Given the description of an element on the screen output the (x, y) to click on. 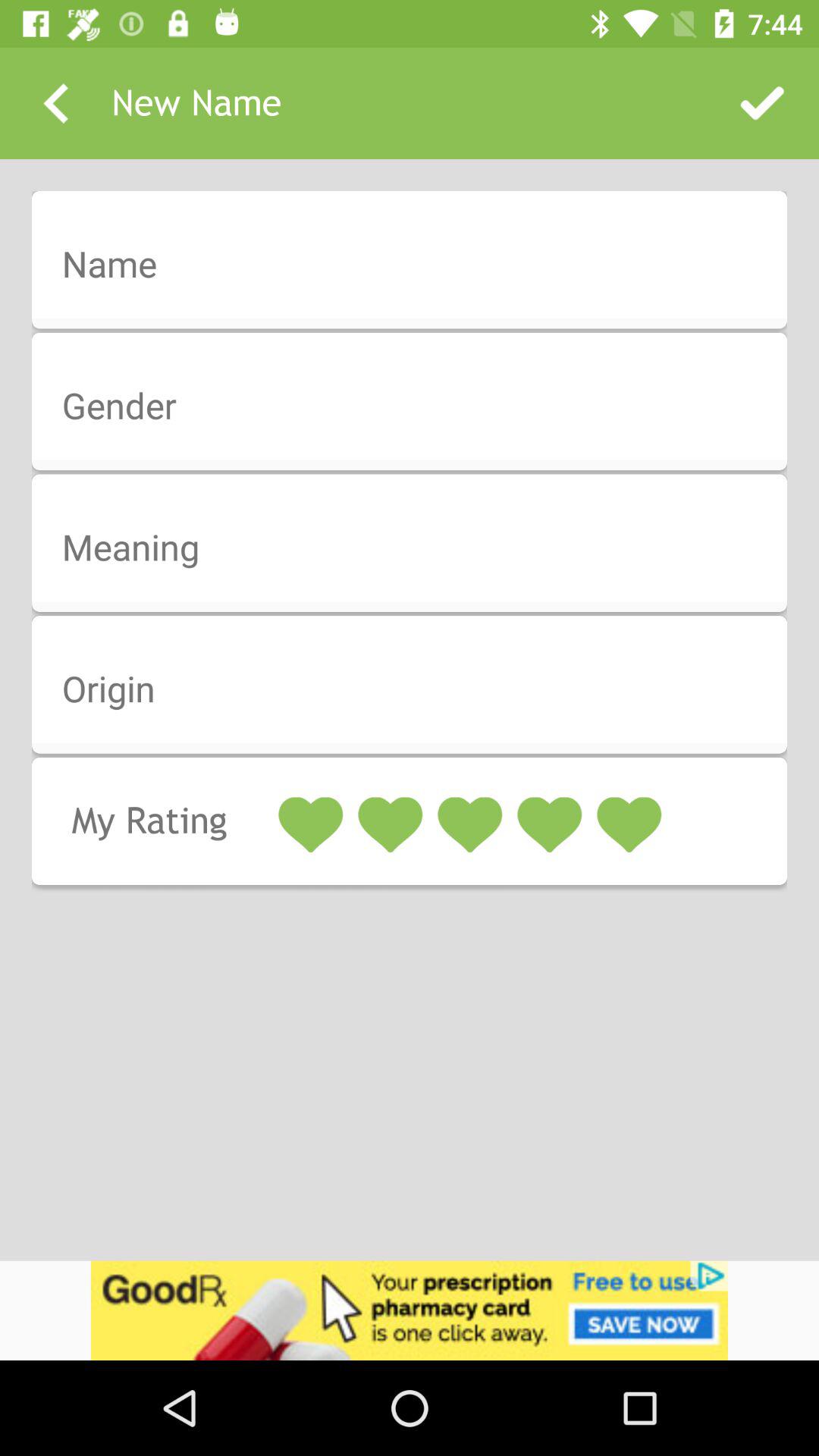
demographics (419, 265)
